Given the description of an element on the screen output the (x, y) to click on. 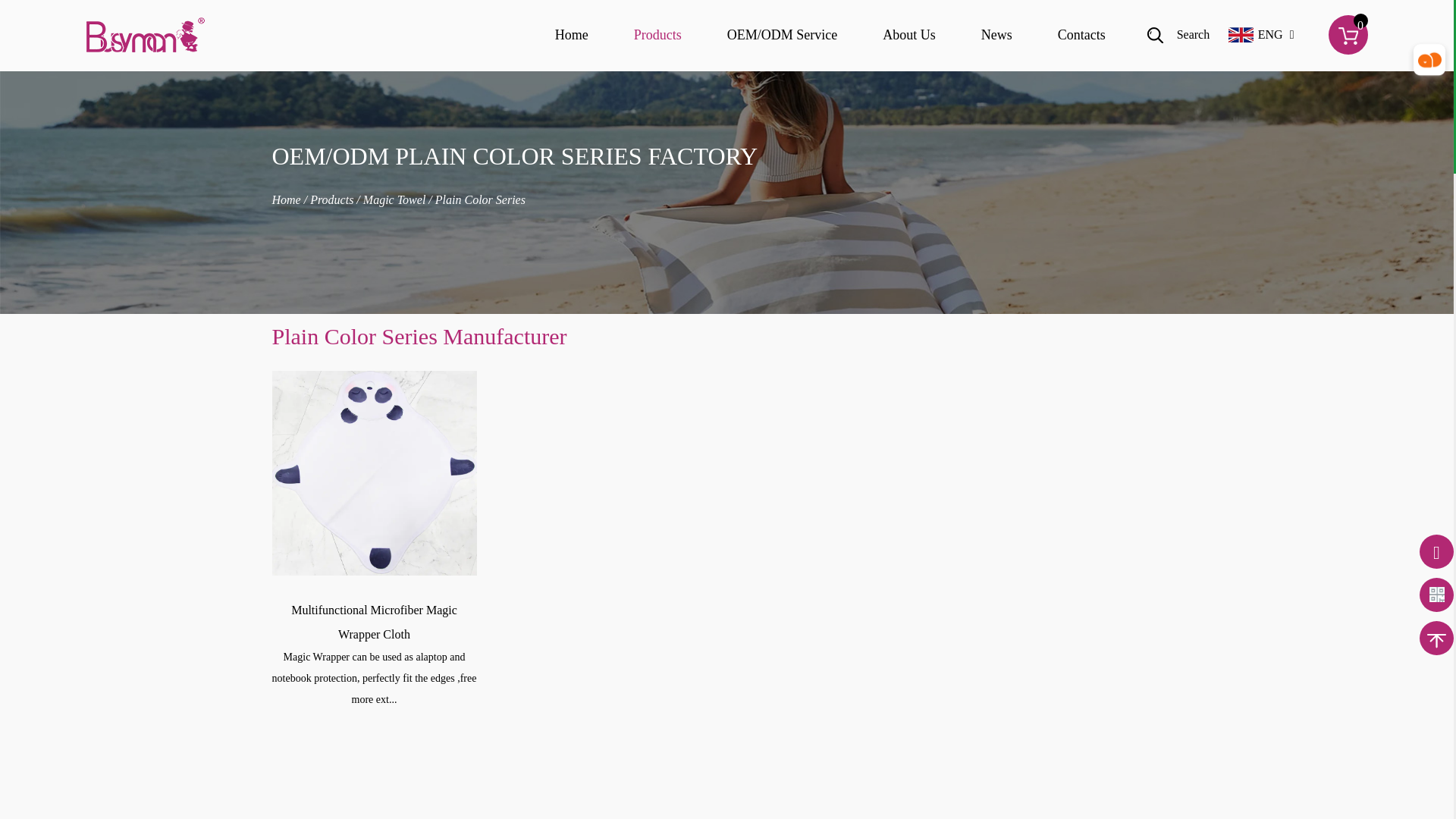
About Us (909, 34)
Multifunctional  Microfiber Magic Wrapper Cloth (373, 473)
News (996, 34)
Contacts (1081, 34)
Products (657, 34)
Home (571, 34)
